Given the description of an element on the screen output the (x, y) to click on. 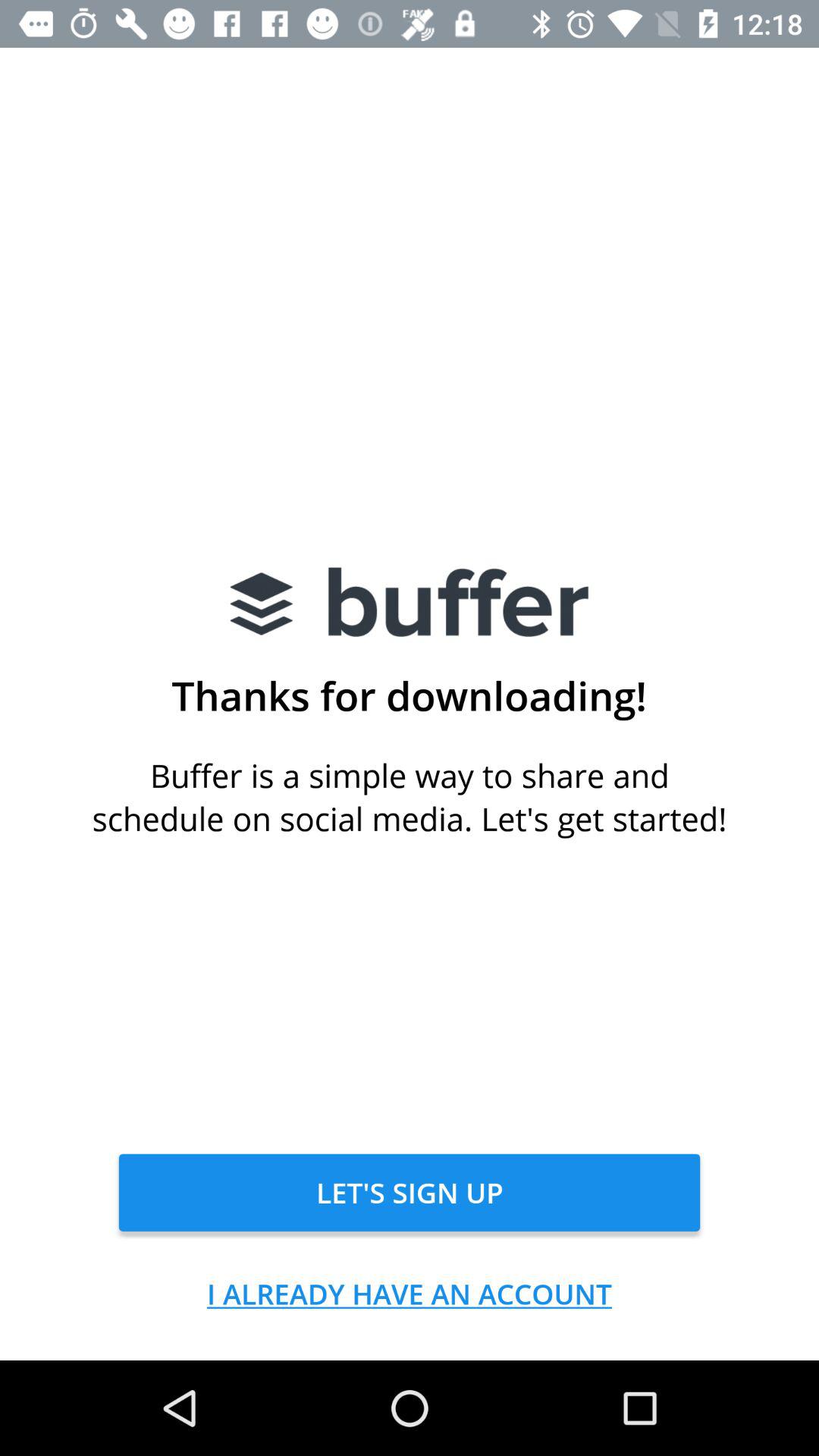
swipe until i already have item (409, 1293)
